Given the description of an element on the screen output the (x, y) to click on. 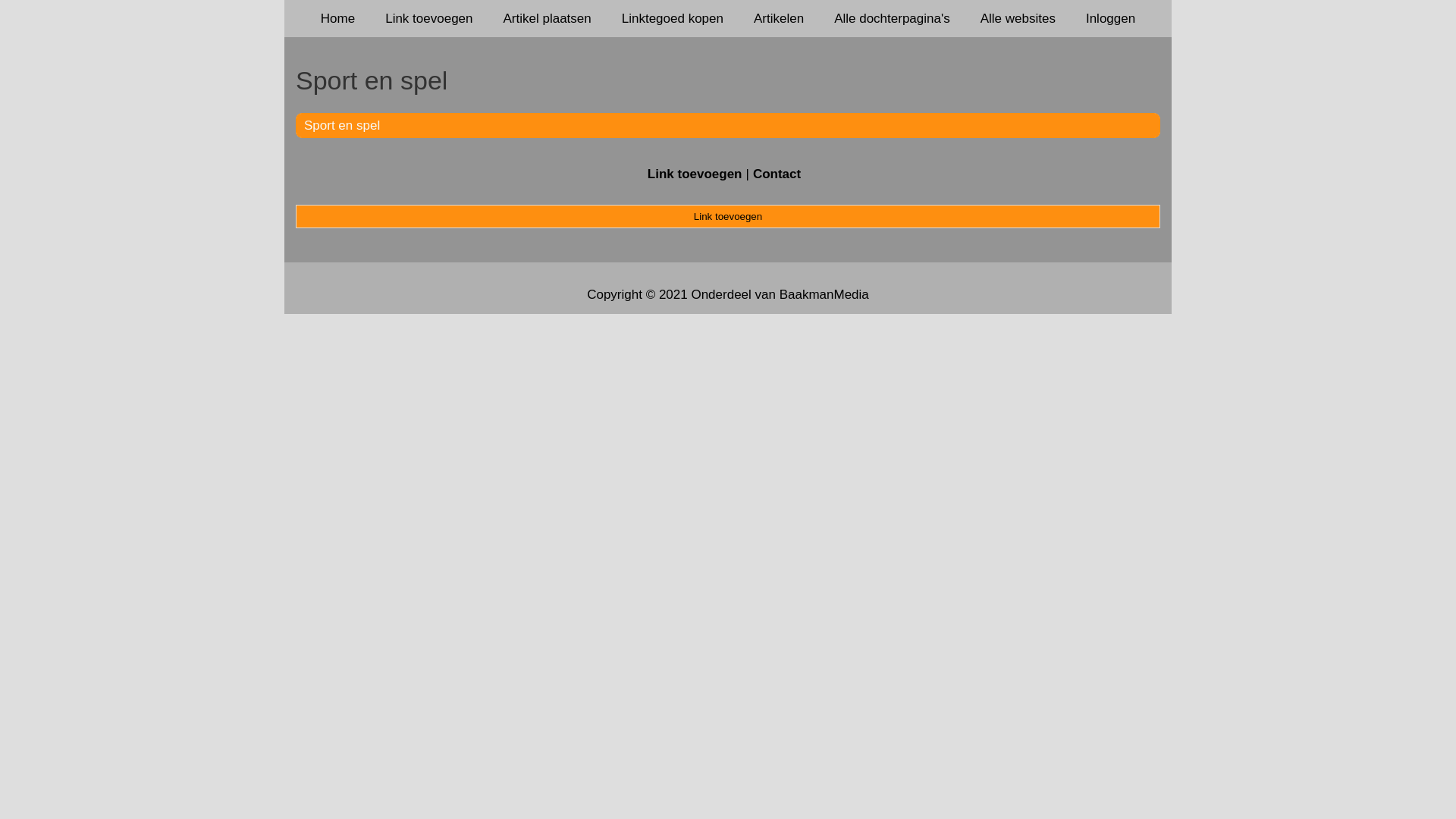
Link toevoegen Element type: text (428, 18)
Home Element type: text (337, 18)
BaakmanMedia Element type: text (824, 294)
Linktegoed kopen Element type: text (672, 18)
Artikel plaatsen Element type: text (547, 18)
Link toevoegen Element type: text (694, 173)
Link toevoegen Element type: text (727, 215)
Contact Element type: text (776, 173)
Inloggen Element type: text (1110, 18)
Alle websites Element type: text (1017, 18)
Sport en spel Element type: text (727, 80)
Artikelen Element type: text (778, 18)
Sport en spel Element type: text (341, 125)
Alle dochterpagina's Element type: text (892, 18)
